Given the description of an element on the screen output the (x, y) to click on. 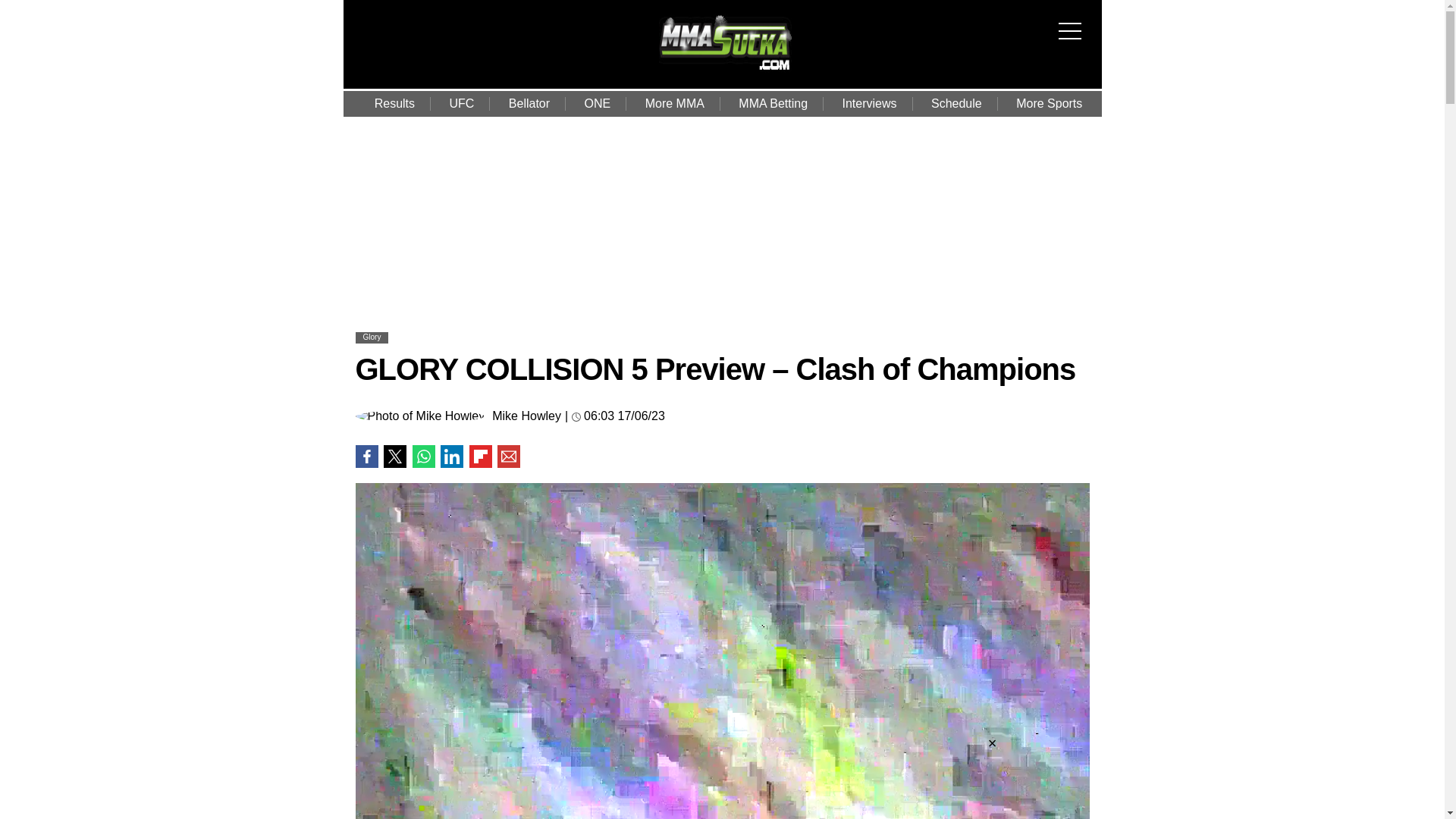
Results (394, 103)
More MMA (674, 103)
Menu (1074, 21)
UFC (461, 103)
Bellator (528, 103)
ONE (597, 103)
Back to the homepage (725, 70)
